Given the description of an element on the screen output the (x, y) to click on. 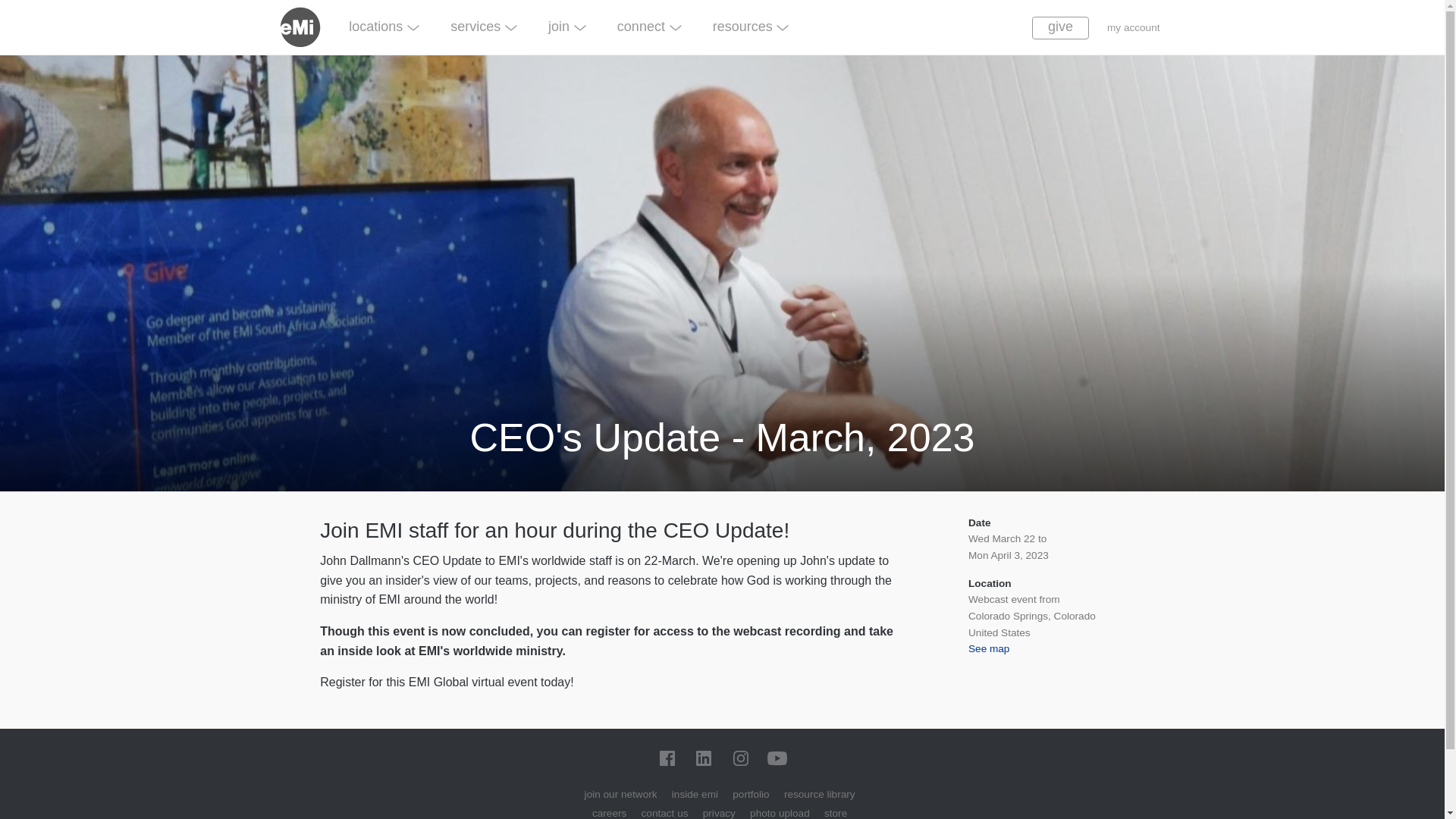
services (483, 26)
resources (750, 26)
Home (306, 25)
give (1060, 27)
join (566, 26)
my account (1133, 27)
connect (648, 26)
locations (383, 26)
